Given the description of an element on the screen output the (x, y) to click on. 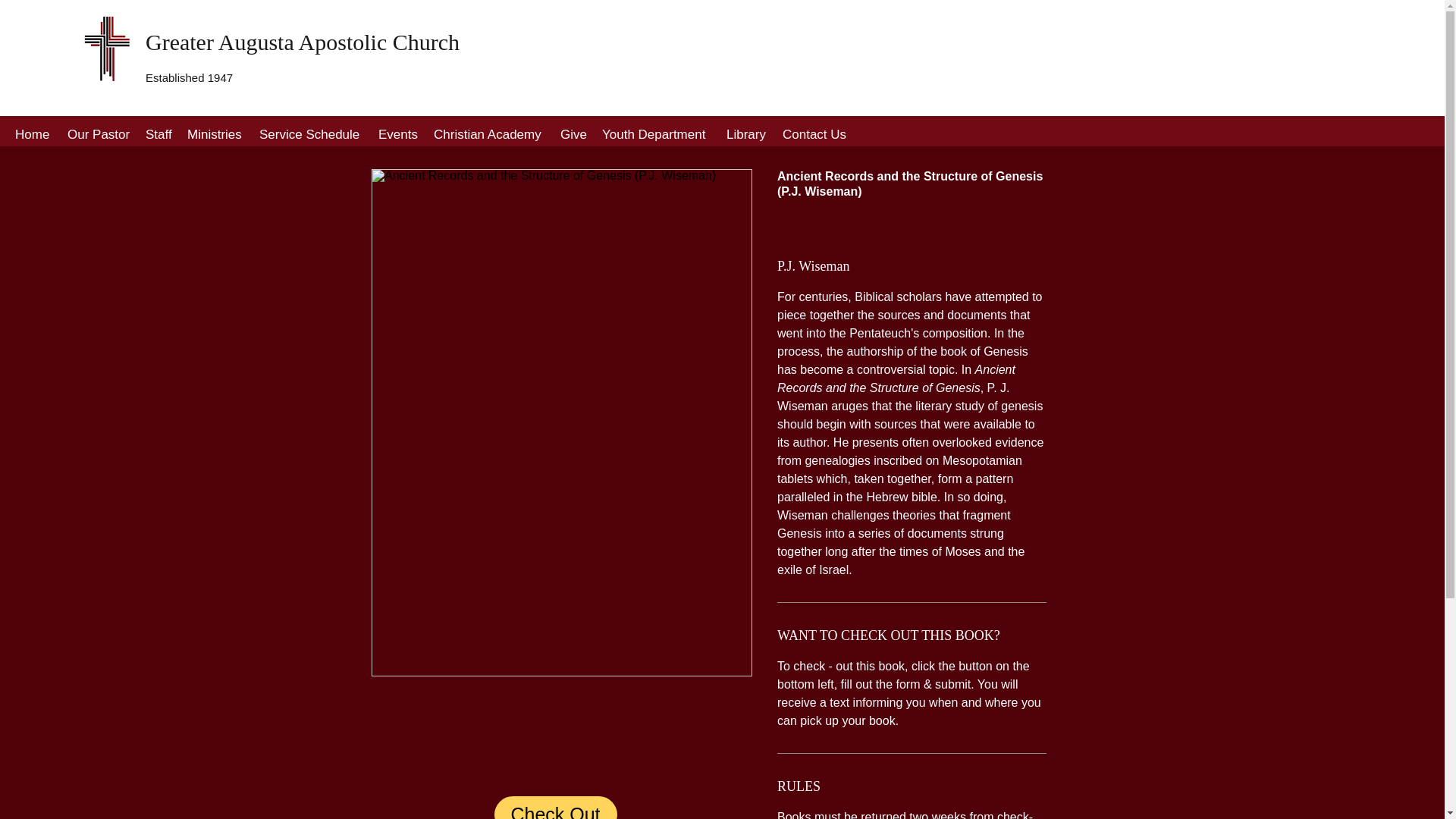
Our Pastor (98, 134)
Library (746, 134)
Give (573, 134)
Ministries (215, 134)
Staff (158, 134)
Service Schedule (311, 134)
Youth Department (656, 134)
Contact Us (815, 134)
Check Out (556, 807)
Home (33, 134)
Christian Academy (489, 134)
Events (398, 134)
